Given the description of an element on the screen output the (x, y) to click on. 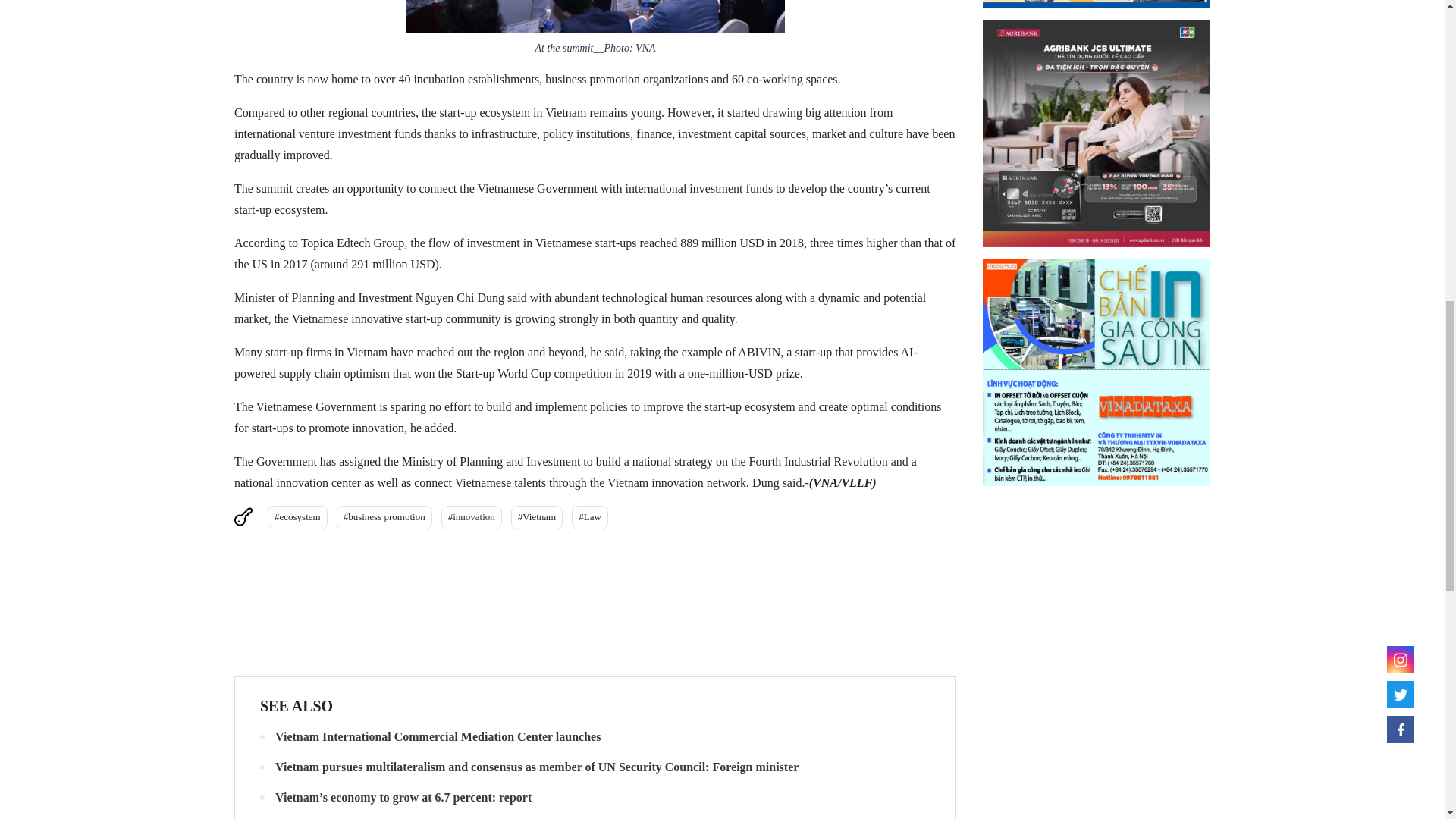
innovation (471, 517)
Vietnam International Commercial Mediation Center launches (595, 736)
ecosystem (297, 517)
Vietnam (536, 517)
SEE ALSO (296, 705)
business promotion (384, 517)
Law (590, 517)
